Given the description of an element on the screen output the (x, y) to click on. 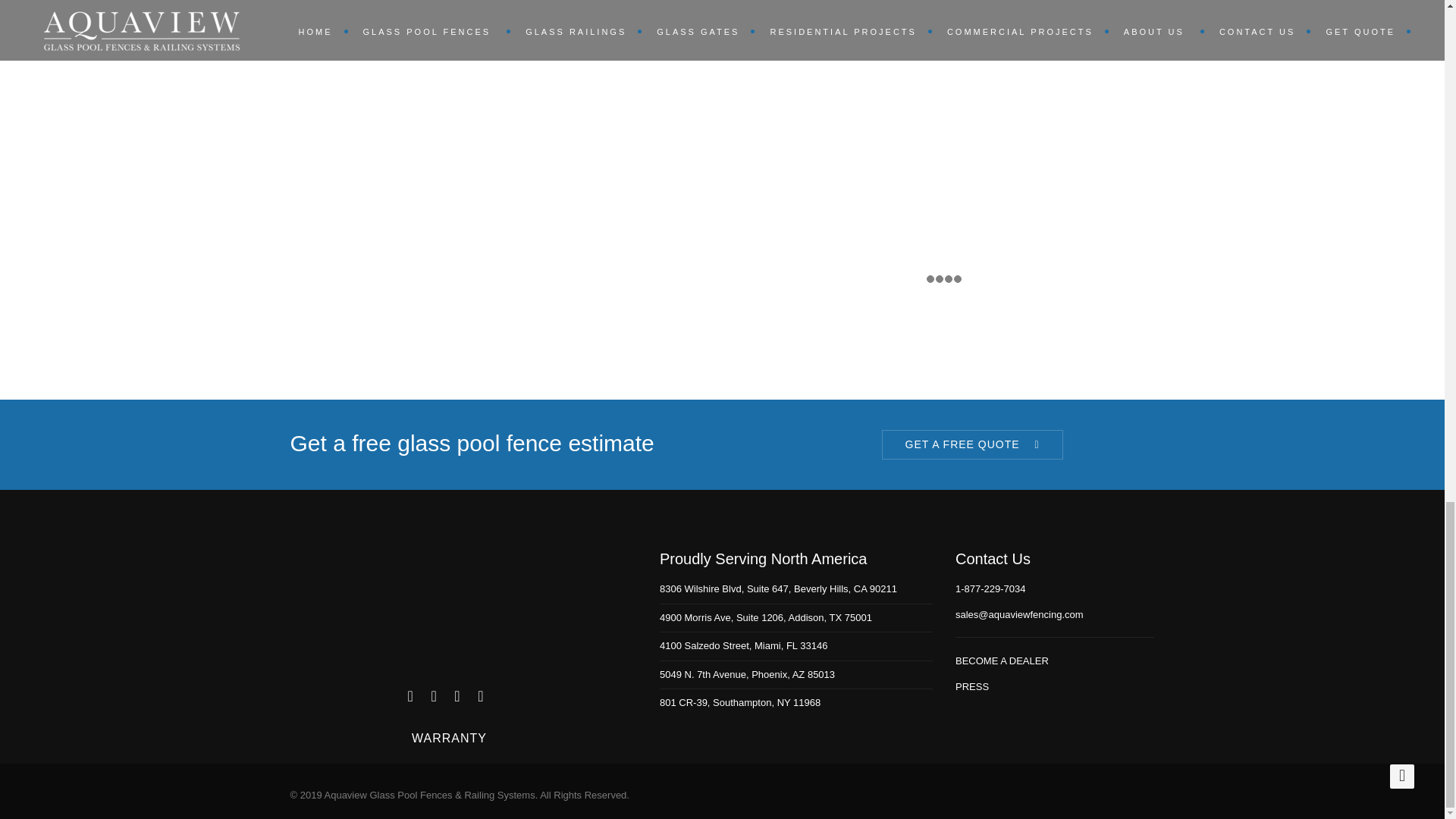
WARRANTY (449, 738)
PRESS (971, 686)
1-877-229-7034 (990, 588)
BECOME A DEALER (1001, 660)
GET A FREE QUOTE (971, 444)
